Given the description of an element on the screen output the (x, y) to click on. 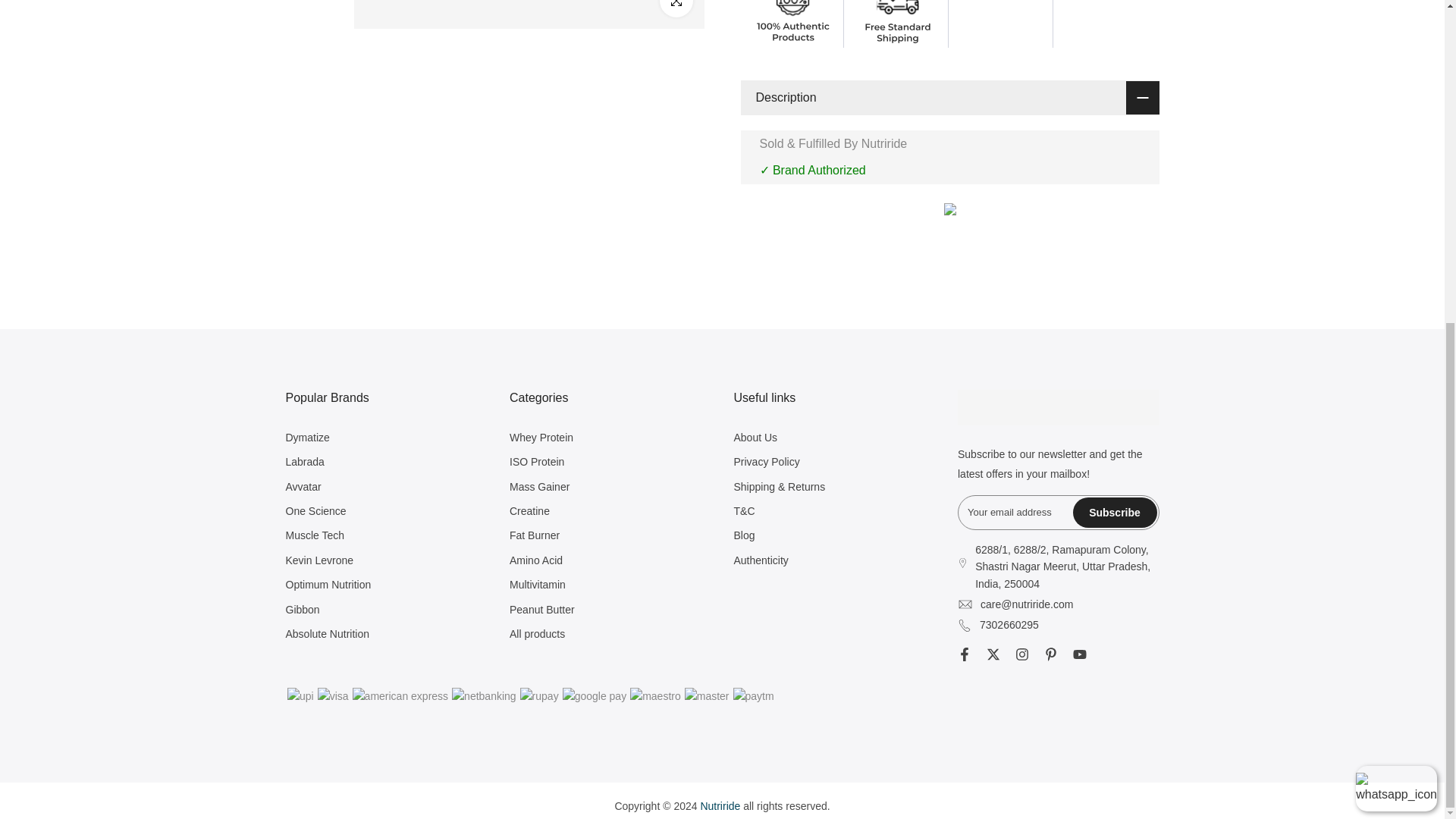
One Science (315, 510)
Muscle Tech (314, 535)
Description (948, 97)
Avvatar (302, 486)
Kevin Levrone (319, 560)
Labrada (304, 461)
Dymatize (307, 437)
